Given the description of an element on the screen output the (x, y) to click on. 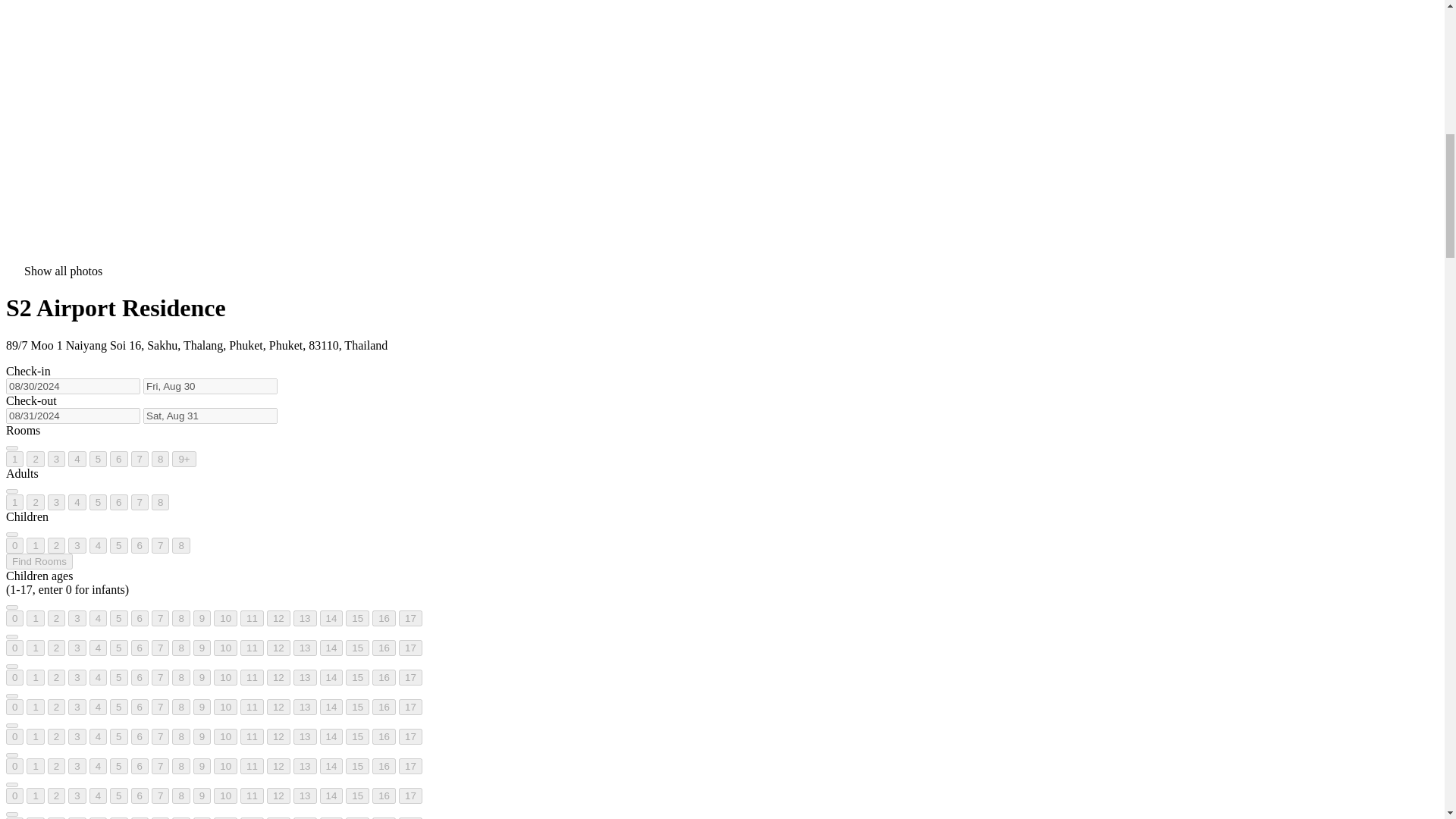
8 (159, 458)
3 (76, 545)
7 (139, 502)
2 (34, 502)
6 (119, 458)
1 (14, 458)
4 (97, 545)
2 (56, 545)
6 (119, 502)
4 (76, 458)
